Given the description of an element on the screen output the (x, y) to click on. 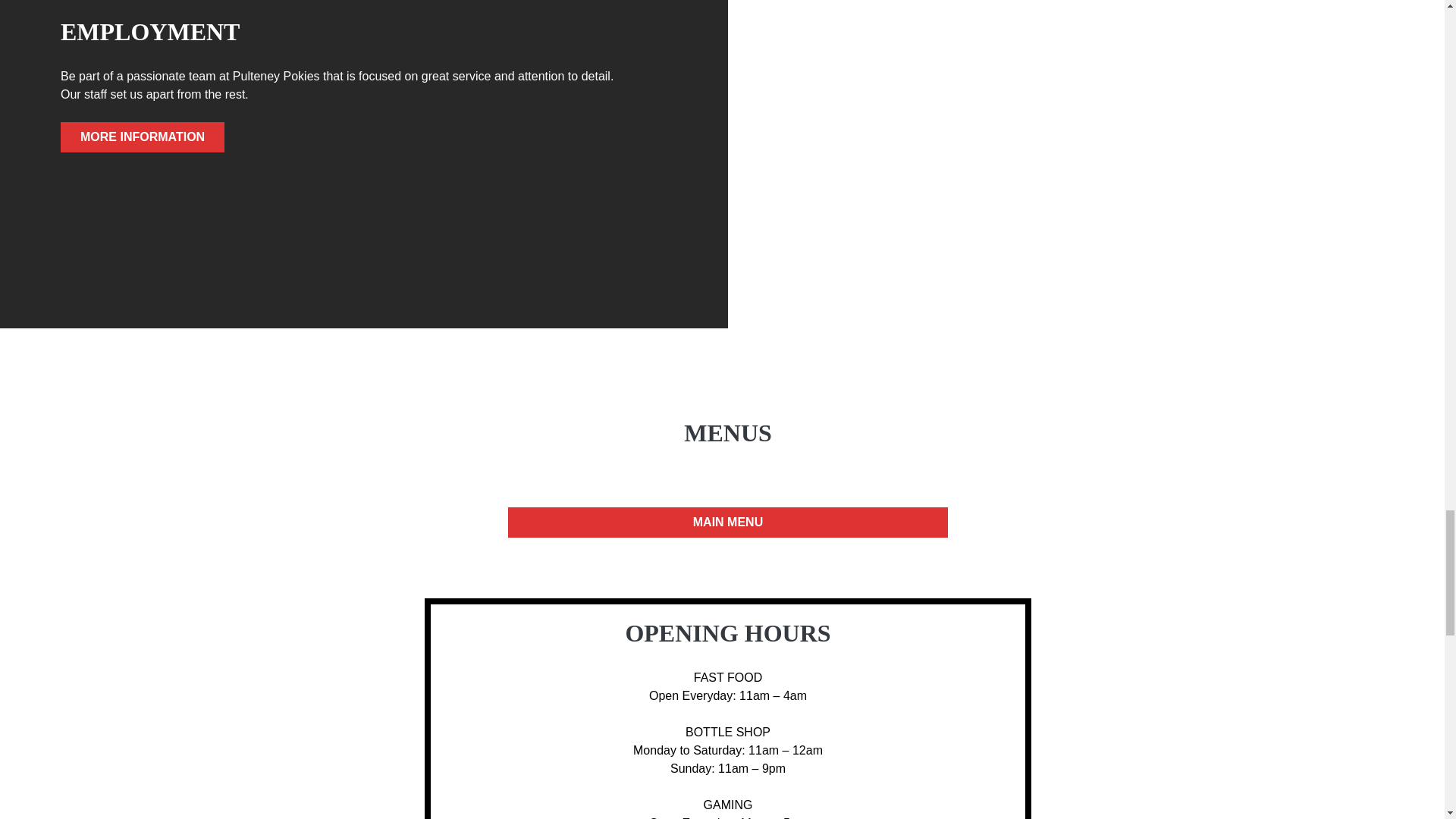
MORE INFORMATION (142, 137)
MAIN MENU (727, 521)
